Given the description of an element on the screen output the (x, y) to click on. 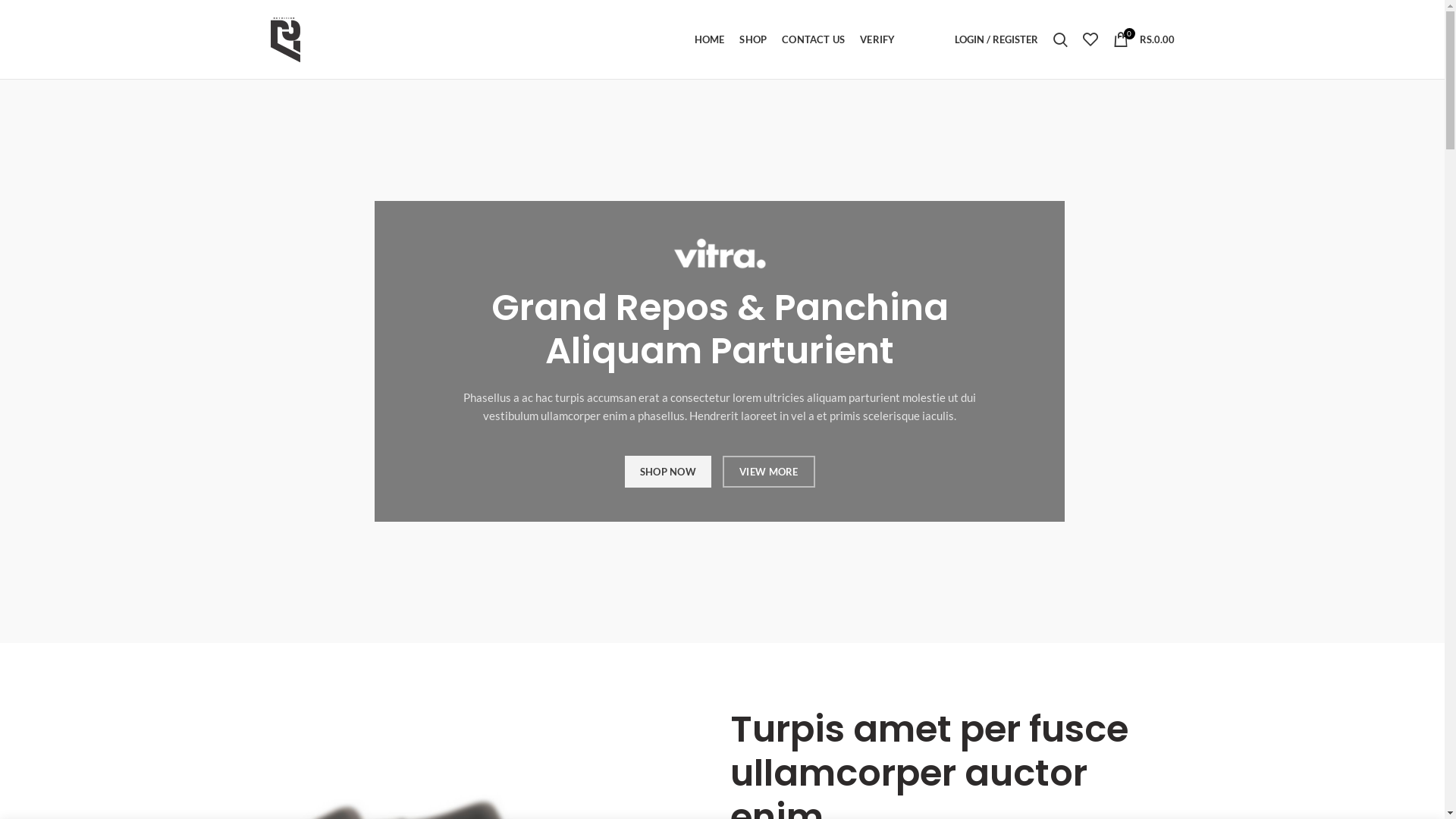
brand-vitra-wite Element type: hover (719, 252)
VIEW MORE Element type: text (768, 471)
My Wishlist Element type: hover (1090, 39)
VERIFY Element type: text (877, 39)
HOME Element type: text (709, 39)
LOGIN / REGISTER Element type: text (995, 39)
Log in Element type: text (912, 266)
0
RS.0.00 Element type: text (1143, 39)
SHOP NOW Element type: text (667, 471)
CONTACT US Element type: text (813, 39)
SHOP Element type: text (752, 39)
Search Element type: hover (1059, 39)
